Given the description of an element on the screen output the (x, y) to click on. 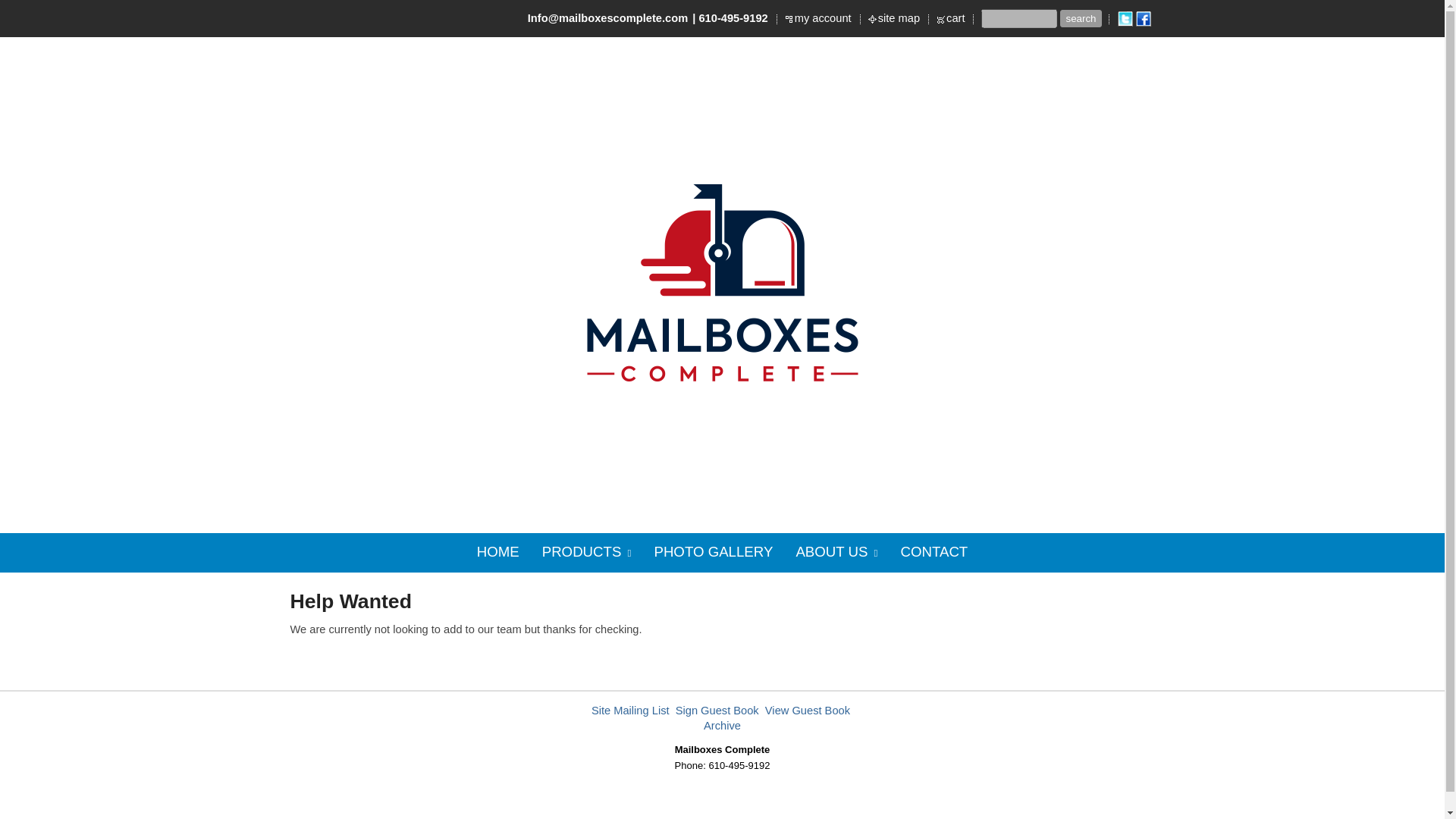
ABOUT US (836, 552)
CONTACT (933, 551)
PHOTO GALLERY (713, 551)
HOME (498, 551)
cart (956, 18)
PRODUCTS (587, 552)
search (1079, 18)
search (1079, 18)
Archive (722, 725)
Sign Guest Book (716, 710)
Site Mailing List (630, 710)
my account (823, 18)
610-495-9192 (733, 18)
View Guest Book (807, 710)
site map (899, 18)
